Given the description of an element on the screen output the (x, y) to click on. 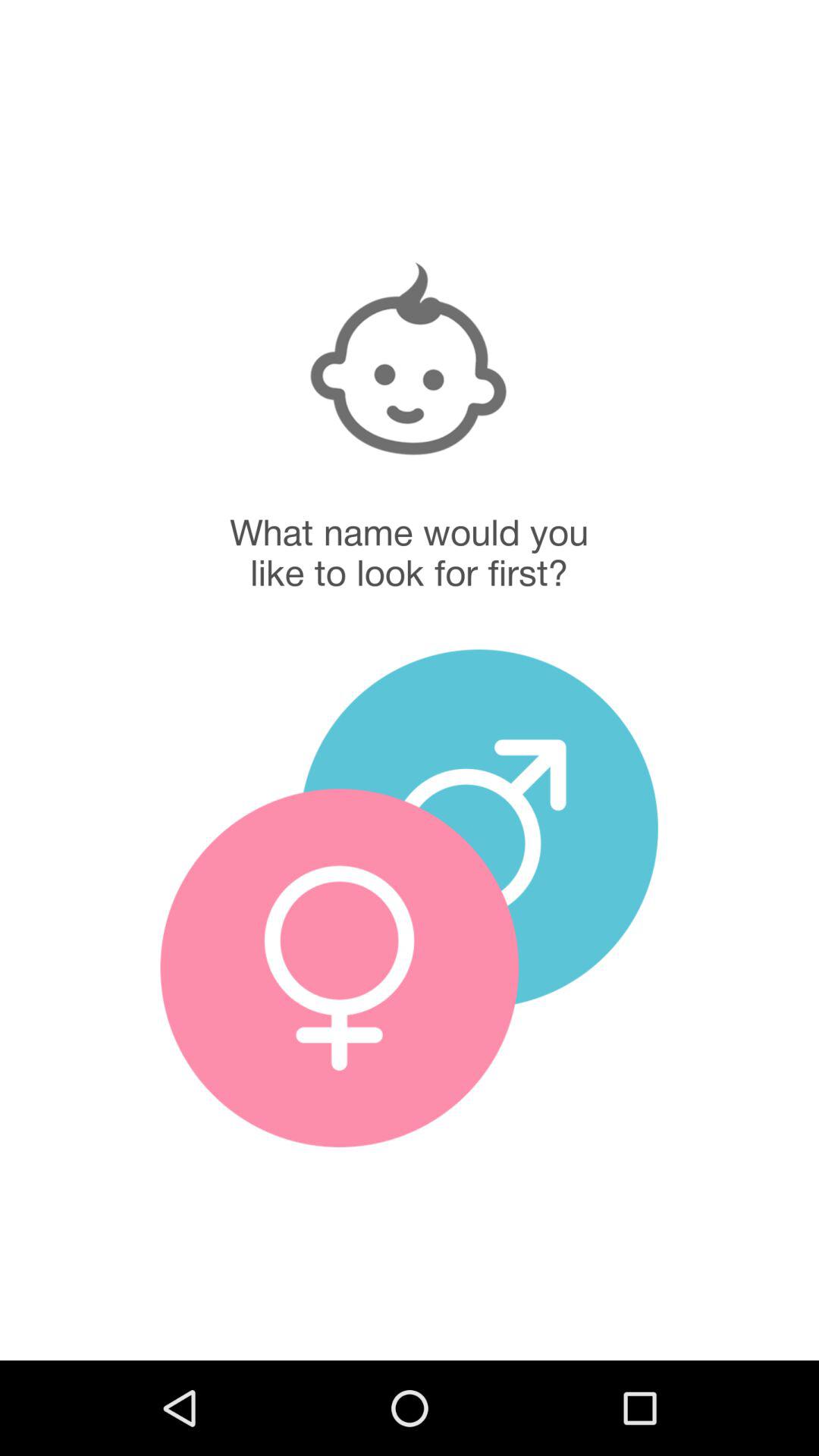
press the item below the what name would icon (339, 967)
